Given the description of an element on the screen output the (x, y) to click on. 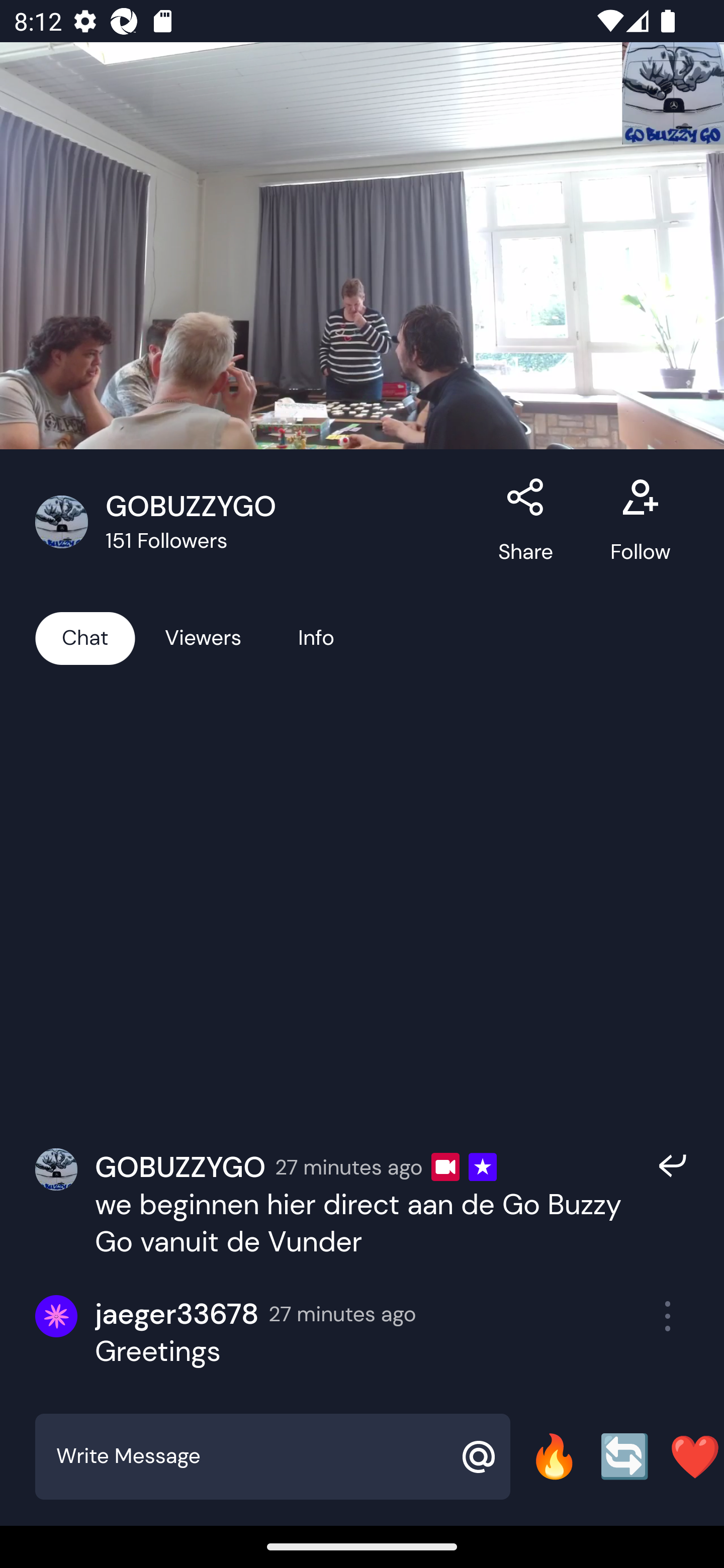
GOBUZZYGO, 151 Followers GOBUZZYGO 151 Followers (256, 521)
Share (525, 521)
Follow (640, 521)
Chat (84, 636)
Viewers (203, 636)
Info (316, 636)
GOBUZZYGO (179, 1166)
jaeger33678 (176, 1313)
Write Message (250, 1456)
🔥 (553, 1456)
🔄 (624, 1456)
❤️ (694, 1456)
